Given the description of an element on the screen output the (x, y) to click on. 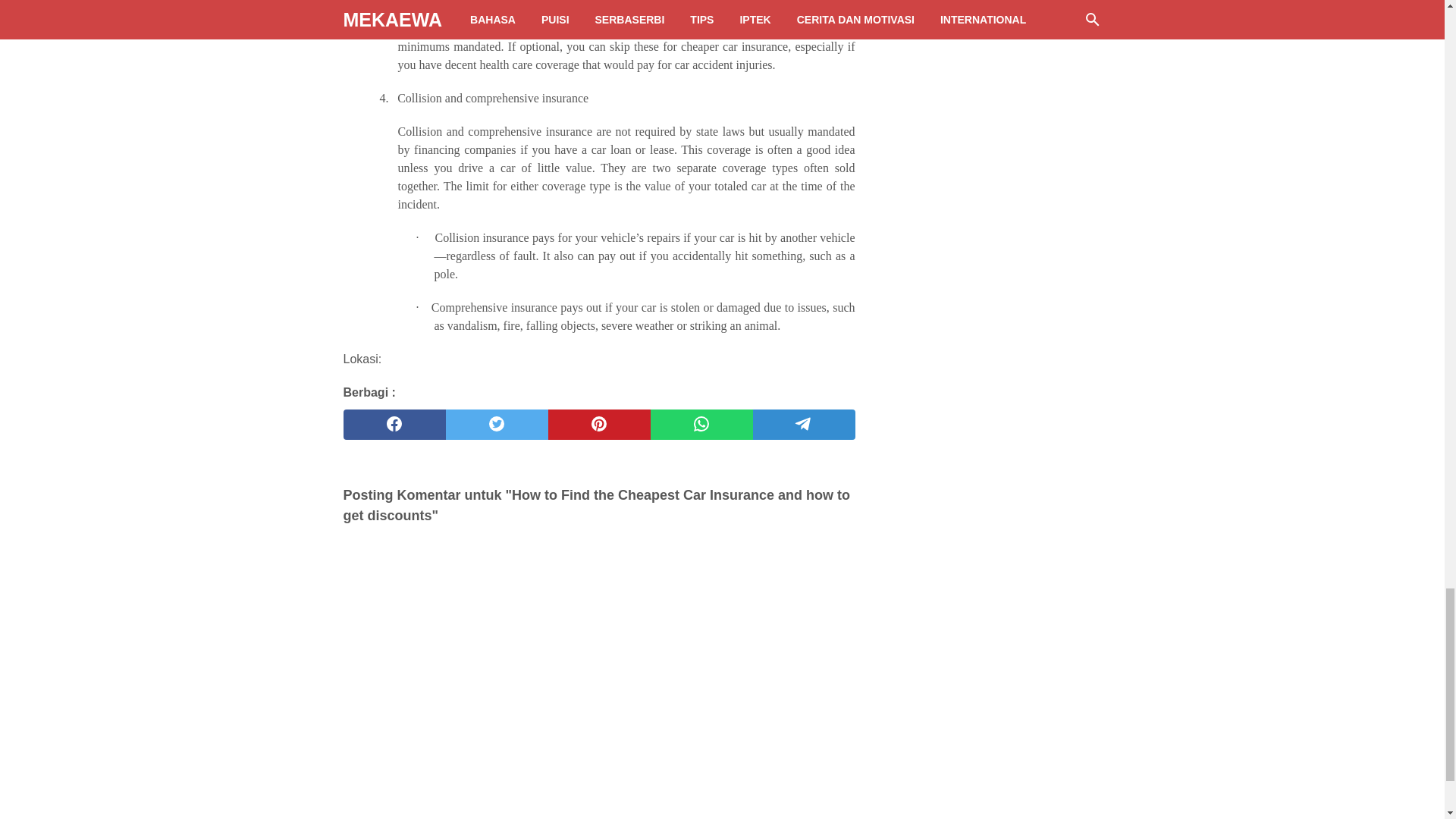
telegram (803, 424)
facebook (393, 424)
pinterest (598, 424)
whatsapp (701, 424)
twitter (496, 424)
